Given the description of an element on the screen output the (x, y) to click on. 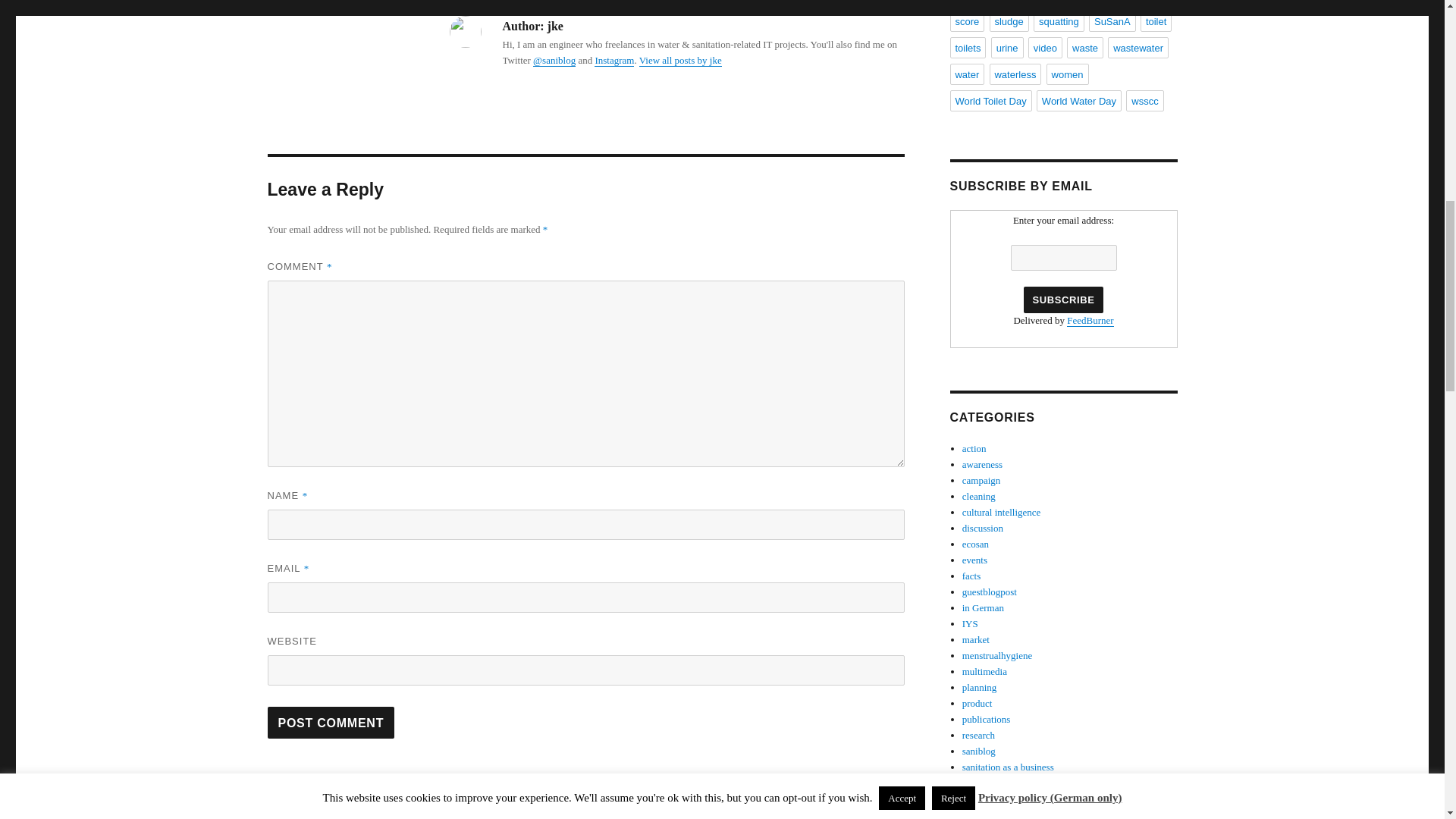
Subscribe (1062, 299)
Post Comment (330, 722)
View all posts by jke (680, 60)
Post Comment (330, 722)
Instagram (613, 60)
